Given the description of an element on the screen output the (x, y) to click on. 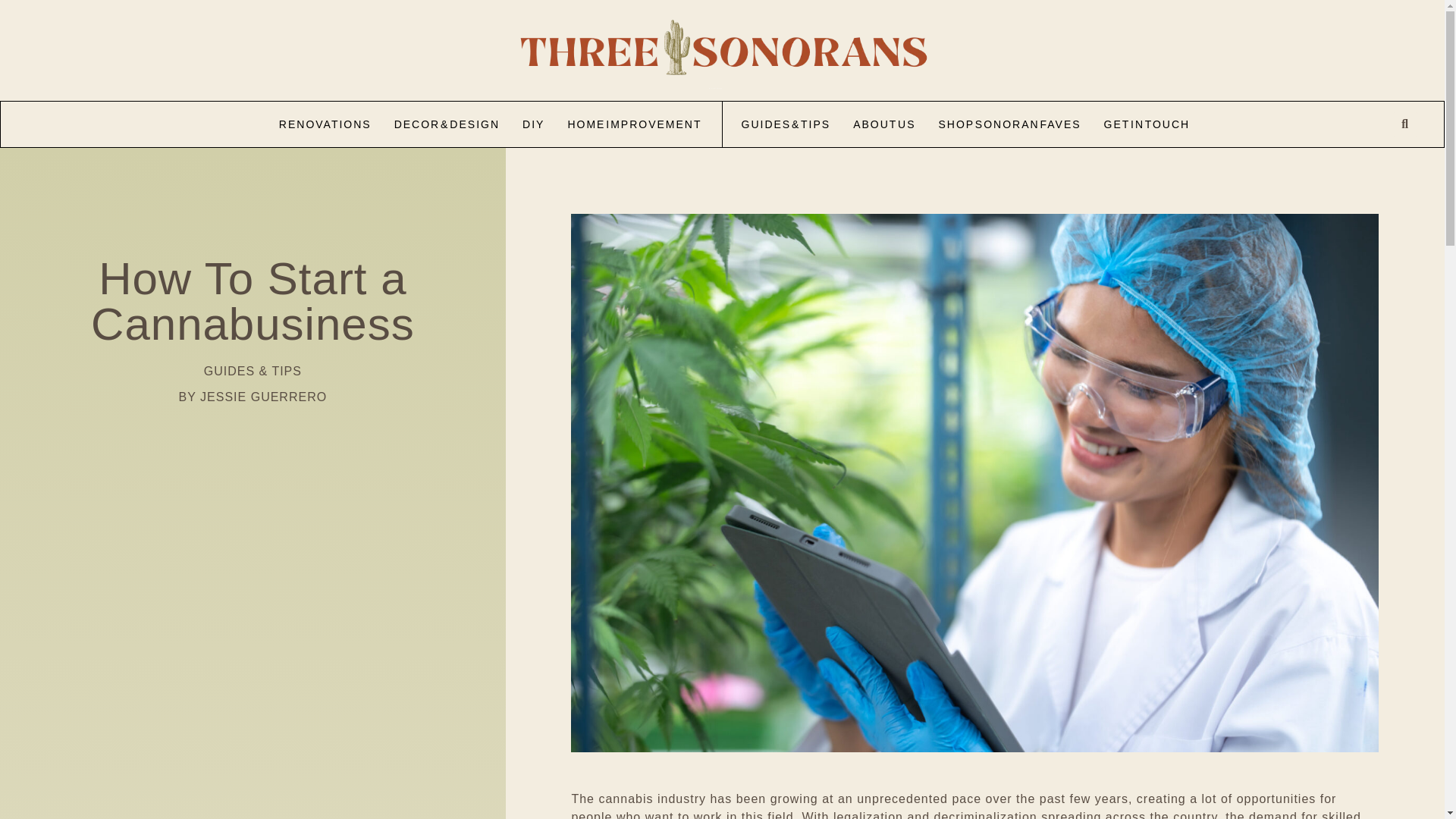
HOME IMPROVEMENT (634, 124)
RENOVATIONS (324, 124)
GET IN TOUCH (1147, 124)
BY JESSIE GUERRERO (253, 397)
ABOUT US (884, 124)
SHOP SONORAN FAVES (1008, 124)
